Given the description of an element on the screen output the (x, y) to click on. 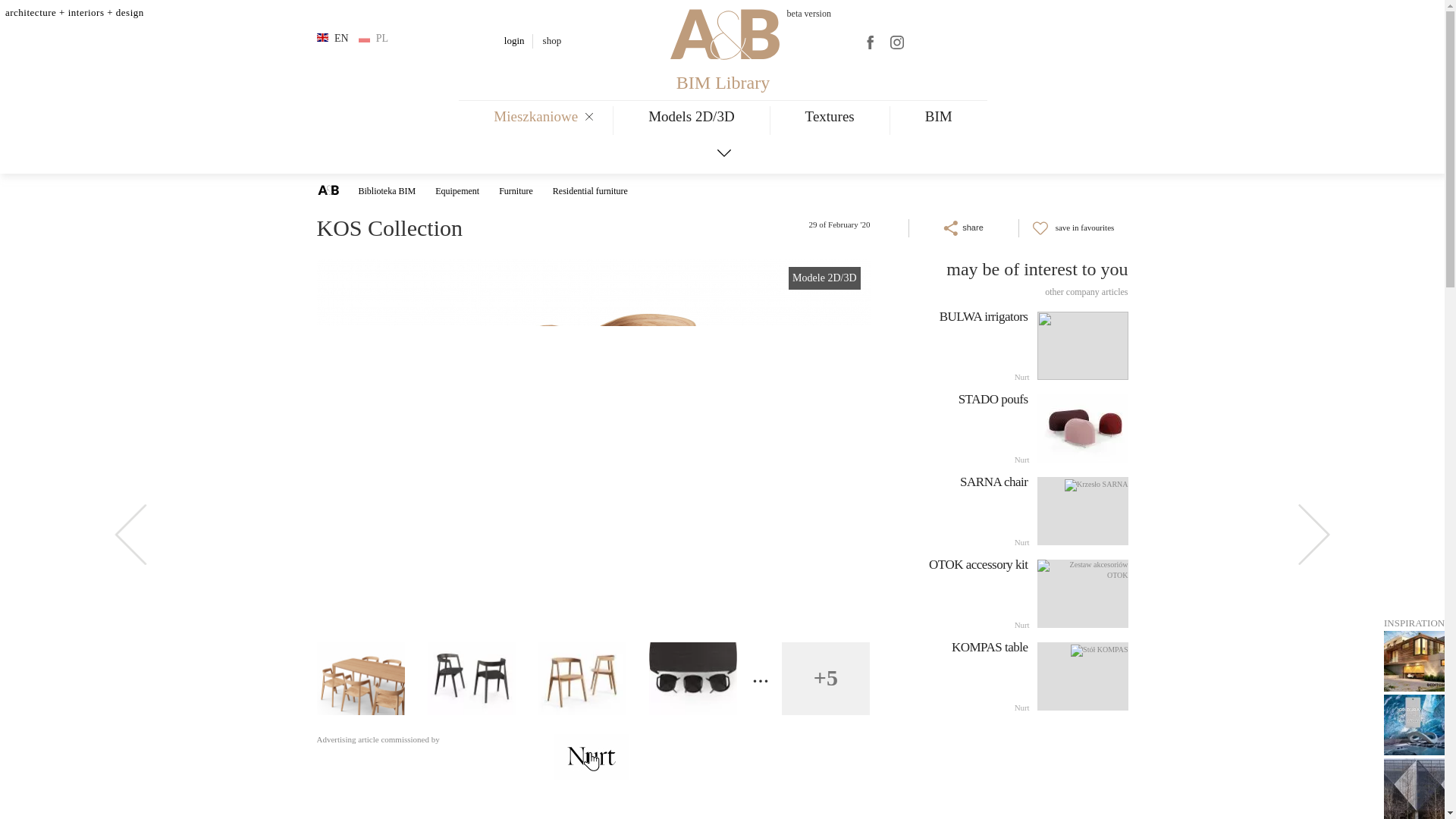
Textures (829, 120)
BIM (938, 120)
BIM Library (723, 82)
shop (552, 40)
login (513, 40)
PL (374, 38)
